Given the description of an element on the screen output the (x, y) to click on. 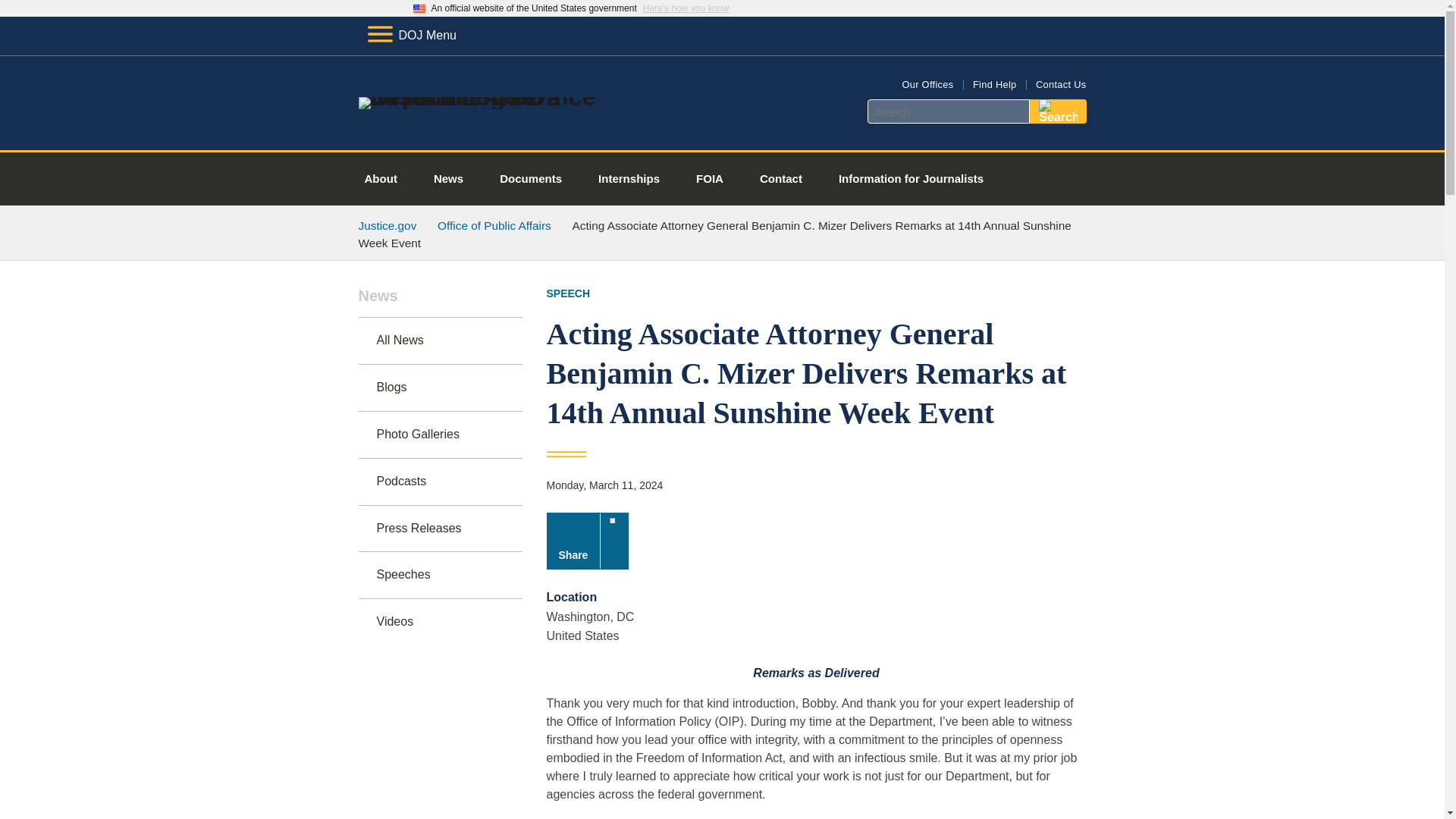
About (380, 179)
Our Offices (927, 84)
Blogs (439, 387)
Office of Public Affairs (494, 225)
Internships (628, 179)
DOJ Menu (411, 35)
Information for Journalists (911, 179)
Find Help (994, 84)
Home (481, 96)
Podcasts (439, 481)
